Given the description of an element on the screen output the (x, y) to click on. 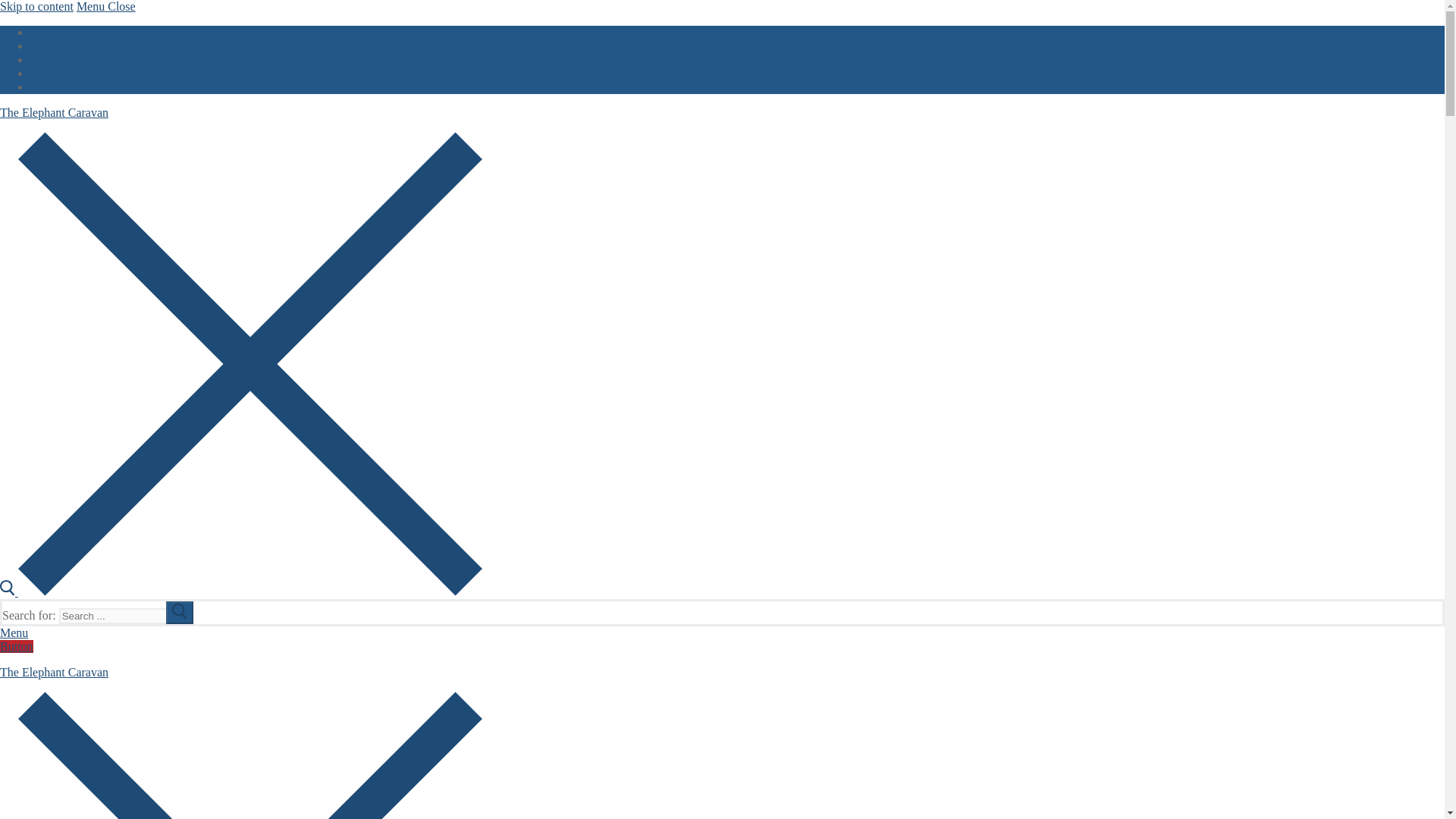
Menu Close (106, 6)
The Elephant Caravan (53, 671)
The Elephant Caravan (53, 112)
Menu (13, 632)
Search for: (126, 616)
Skip to content (37, 6)
Button (16, 645)
